Given the description of an element on the screen output the (x, y) to click on. 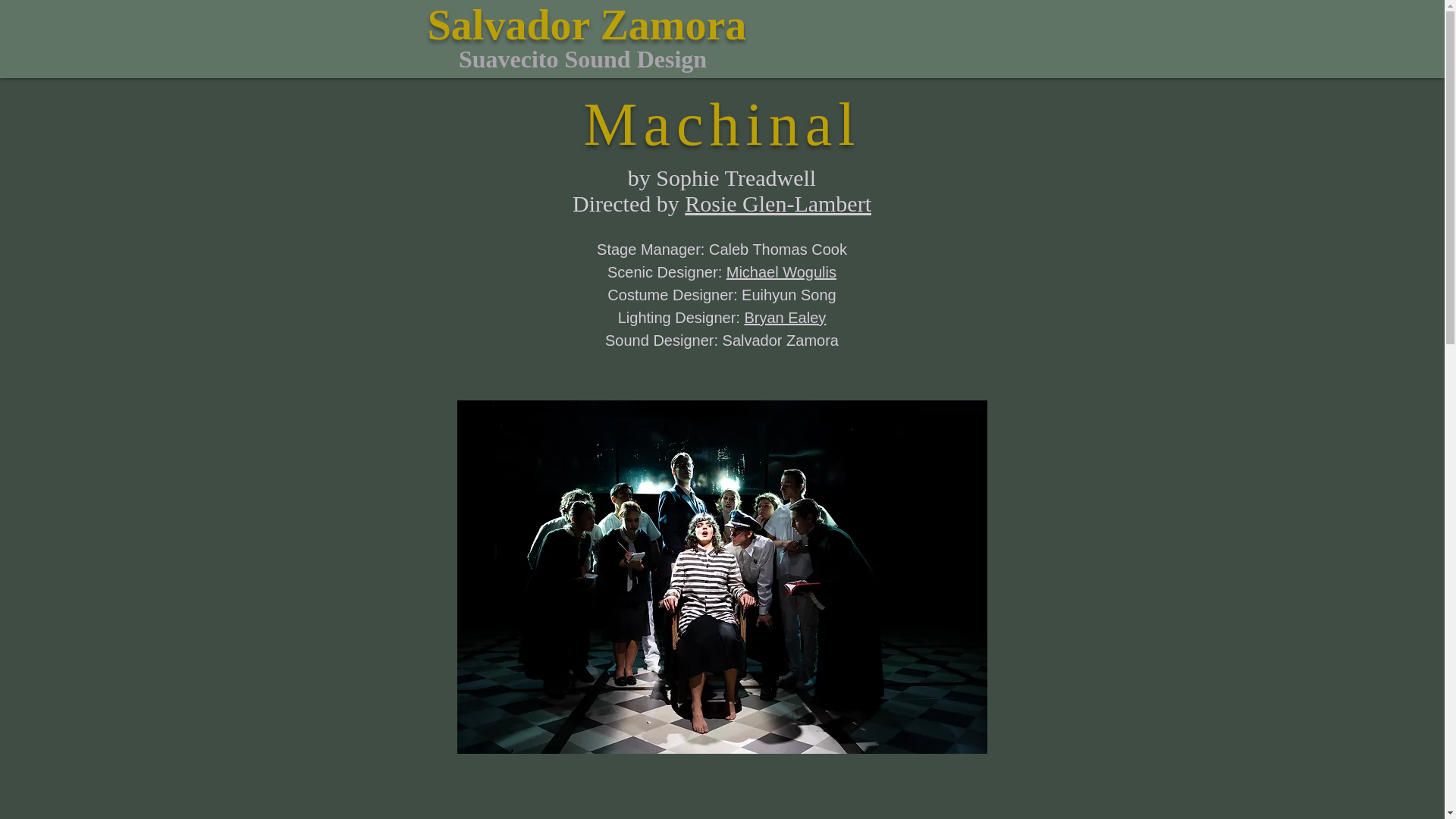
Salvador Zamora (587, 24)
Suavecito Sound Design (582, 58)
Bryan Ealey (784, 317)
Michael Wogulis (780, 271)
Rosie Glen-Lambert (777, 203)
